Given the description of an element on the screen output the (x, y) to click on. 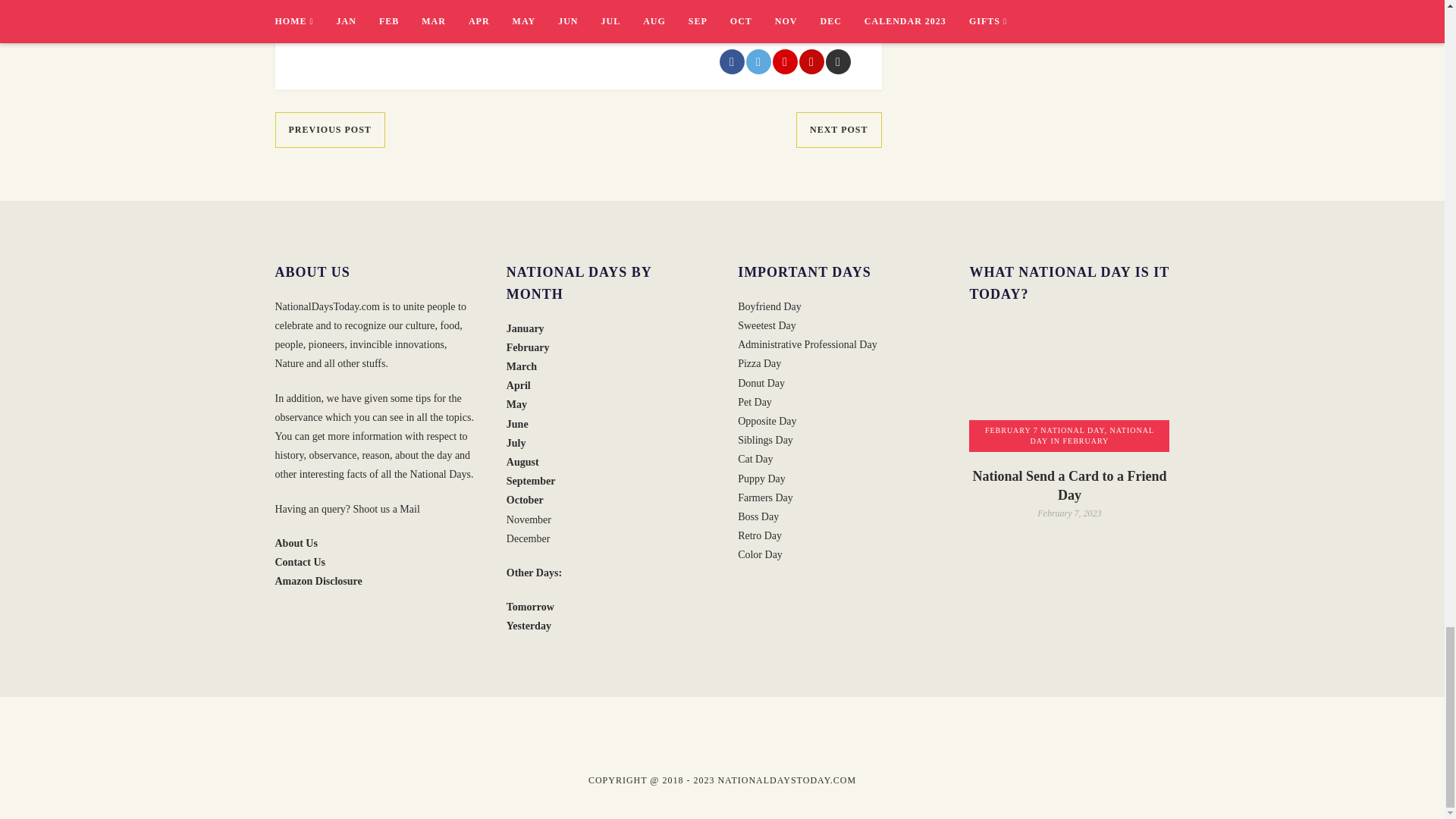
Mail (408, 509)
PREVIOUS POST (329, 130)
Permanent Link: National Send a Card to a Friend Day (1069, 485)
About Us (296, 542)
Contact Us (299, 562)
National Send a Card to a Friend Day (1069, 385)
NEXT POST (838, 130)
